Given the description of an element on the screen output the (x, y) to click on. 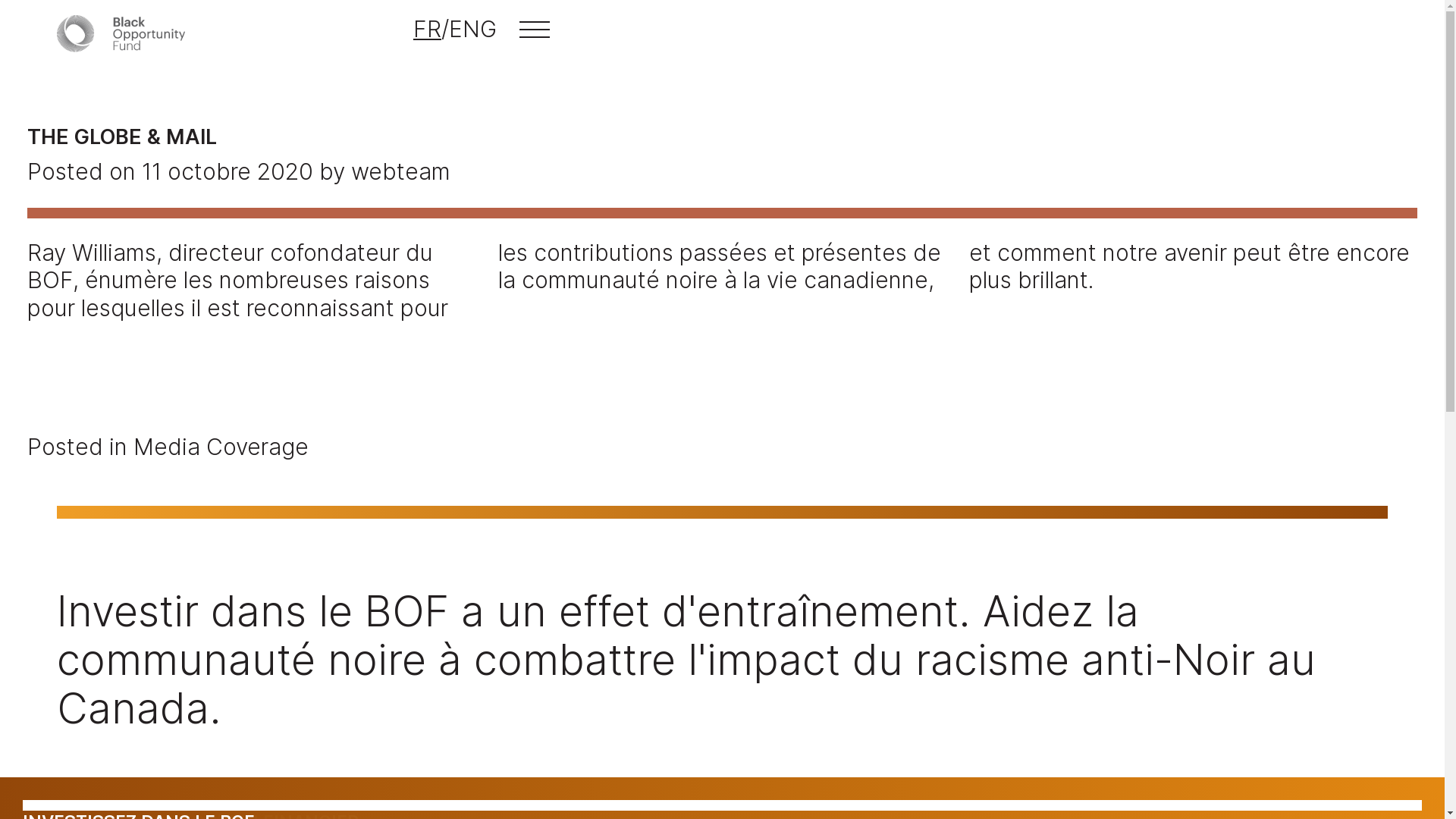
ENG Element type: text (472, 28)
webteam Element type: text (400, 171)
Media Coverage Element type: text (220, 446)
11 octobre 2020 Element type: text (227, 171)
